Given the description of an element on the screen output the (x, y) to click on. 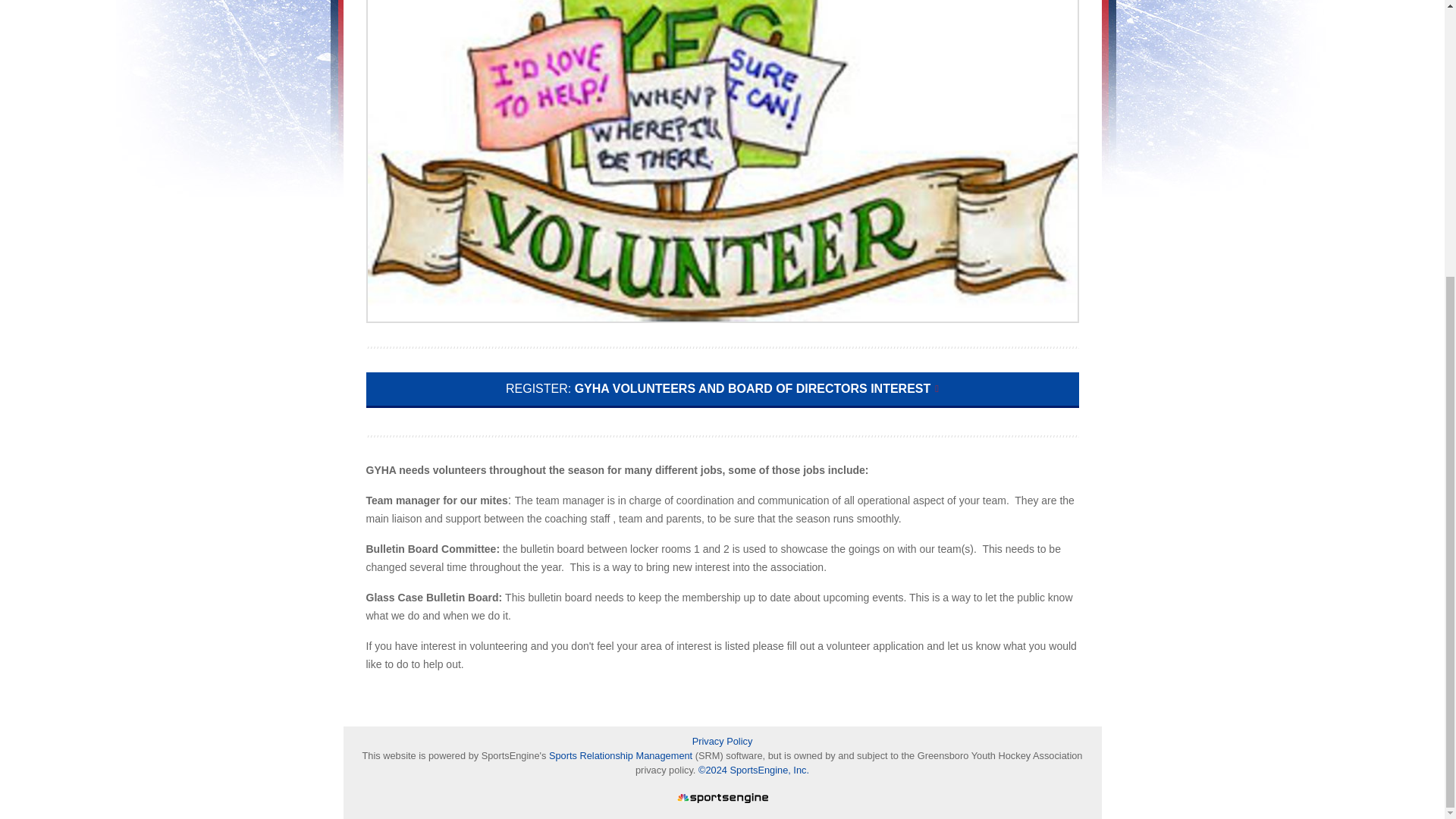
REGISTER: GYHA VOLUNTEERS AND BOARD OF DIRECTORS INTEREST (721, 389)
Privacy Policy (722, 740)
Sports Relationship Management (621, 755)
